Given the description of an element on the screen output the (x, y) to click on. 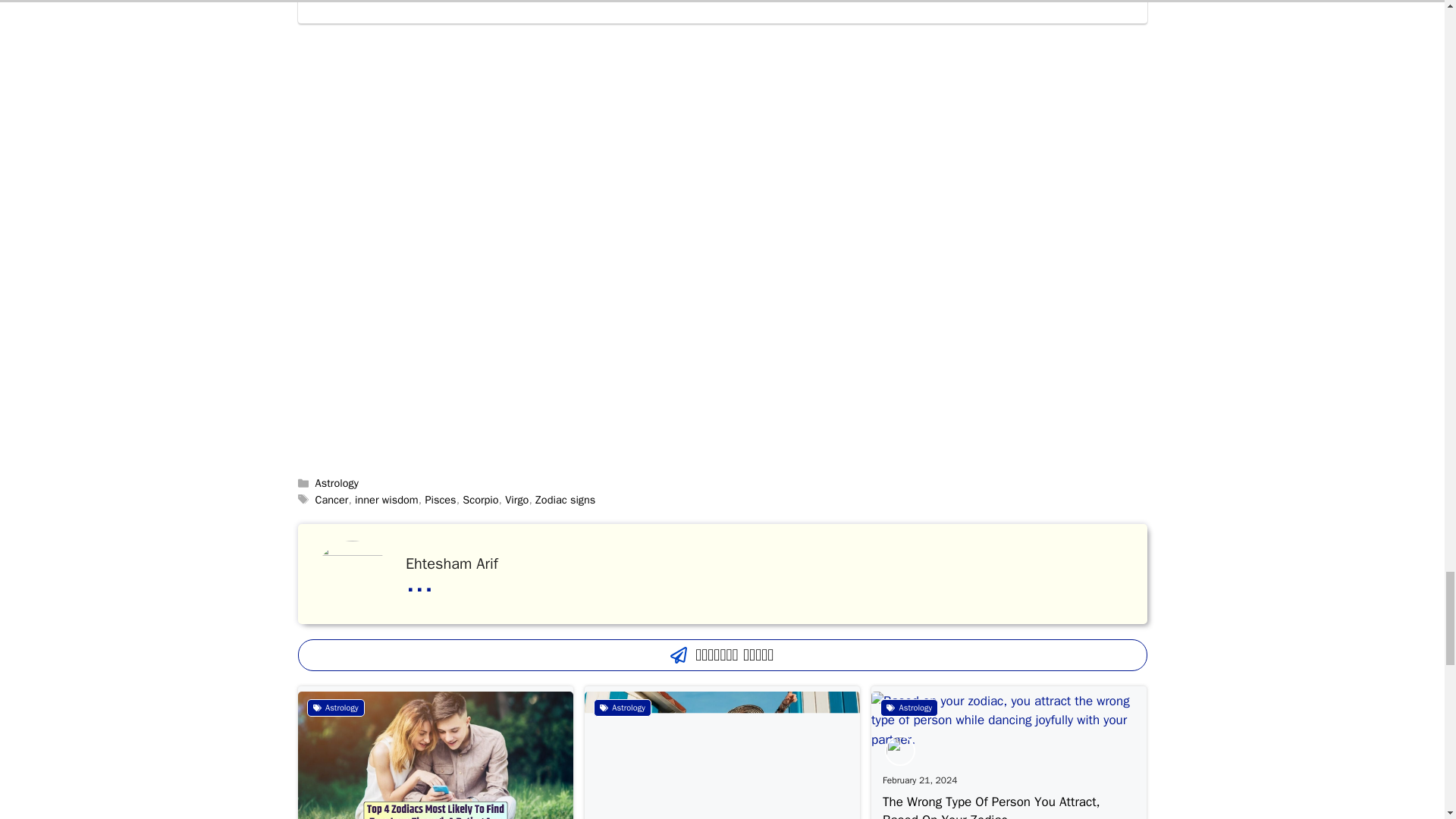
Astrology (334, 707)
Astrology (622, 707)
Scorpio (480, 499)
Virgo (516, 499)
Pisces (440, 499)
inner wisdom (387, 499)
The Wrong Type Of Person You Attract, Based On Your Zodiac (991, 806)
Cancer (332, 499)
Astrology (336, 482)
Zodiac signs (565, 499)
